Given the description of an element on the screen output the (x, y) to click on. 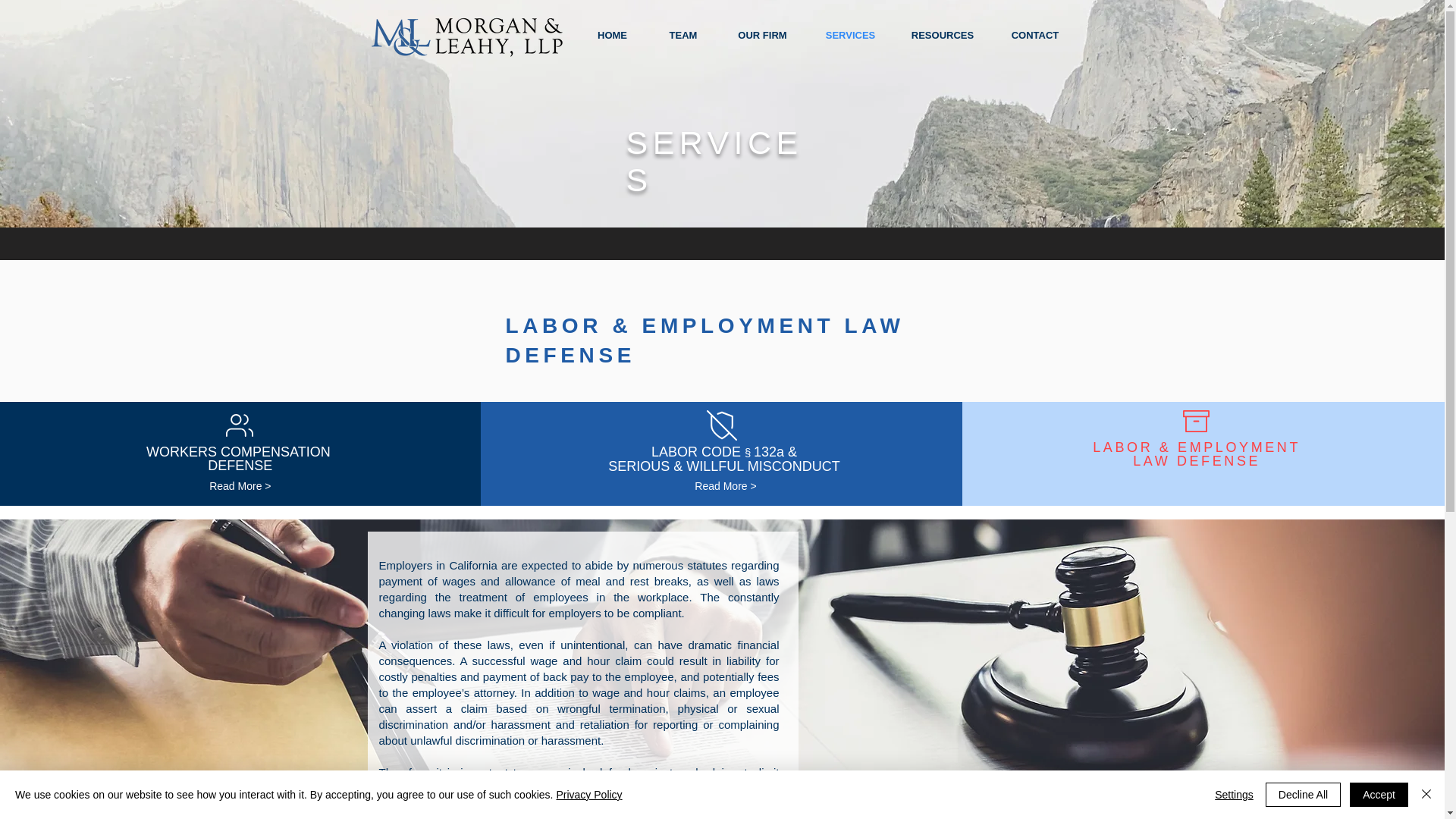
OUR FIRM (240, 458)
HOME (761, 35)
RESOURCES (612, 35)
SERVICES (942, 35)
TEAM (849, 35)
CONTACT (683, 35)
